Given the description of an element on the screen output the (x, y) to click on. 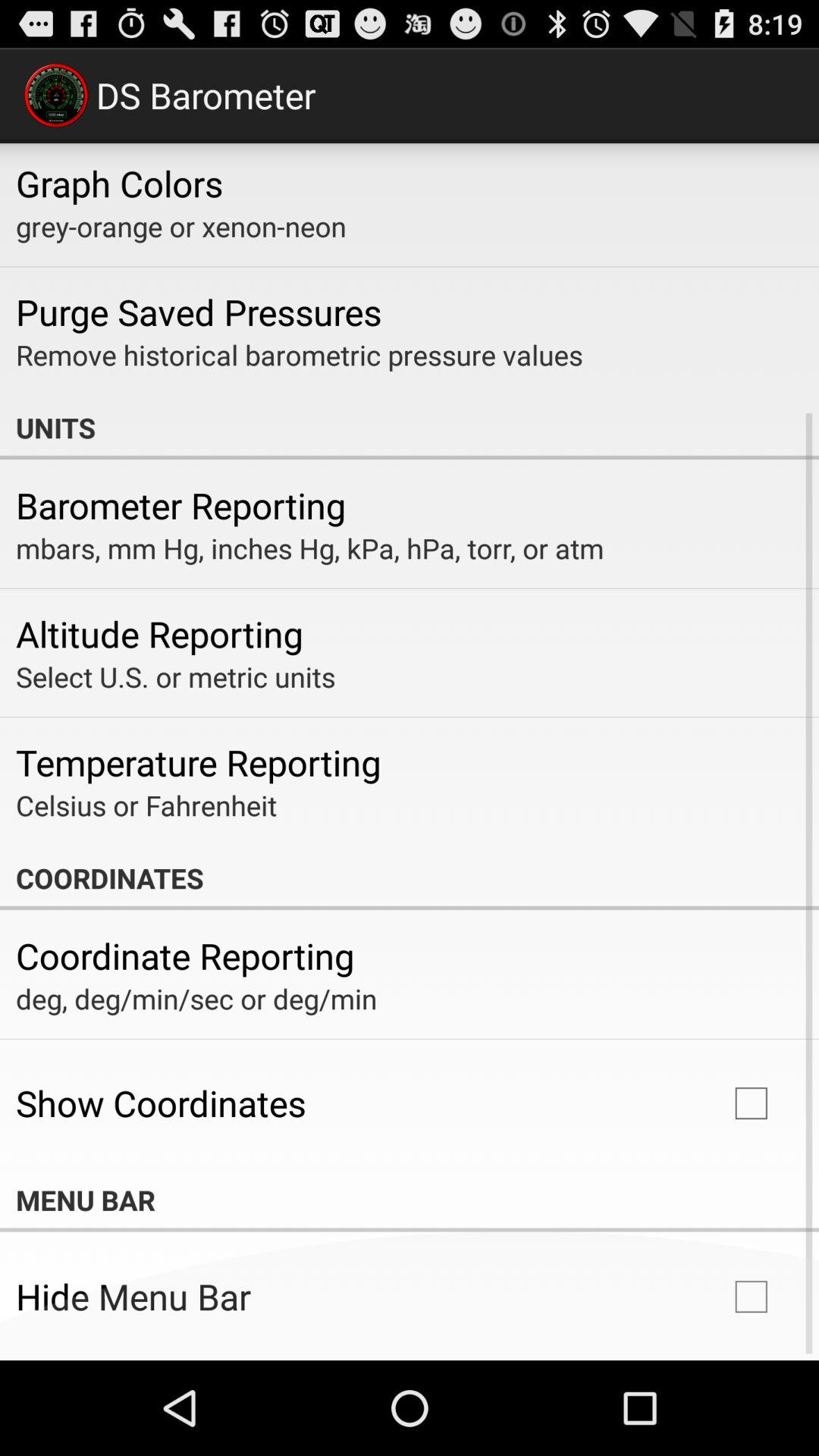
open purge saved pressures icon (198, 311)
